Given the description of an element on the screen output the (x, y) to click on. 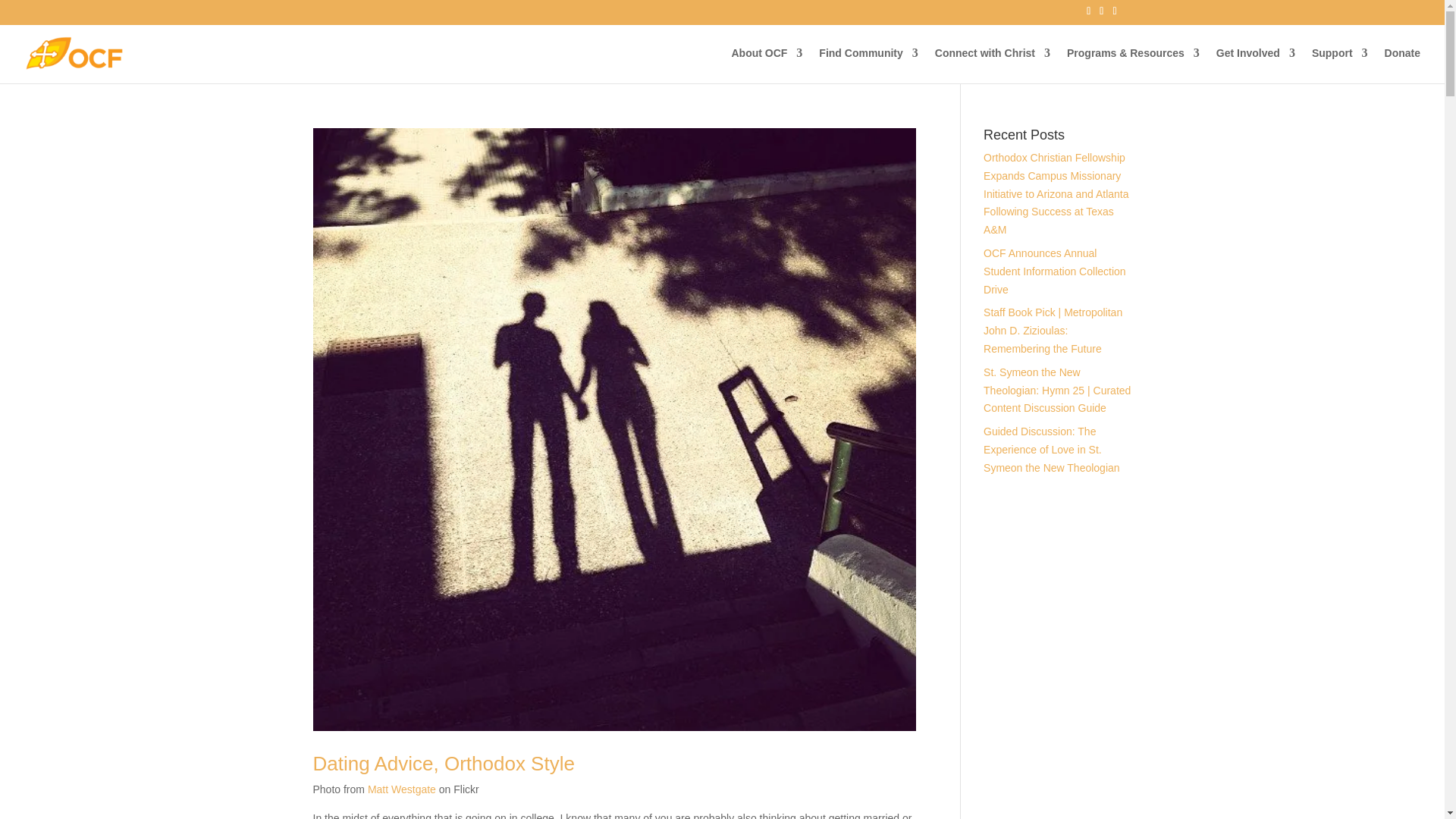
Get Involved (1255, 65)
Support (1339, 65)
About OCF (766, 65)
Connect with Christ (991, 65)
Find Community (867, 65)
